Given the description of an element on the screen output the (x, y) to click on. 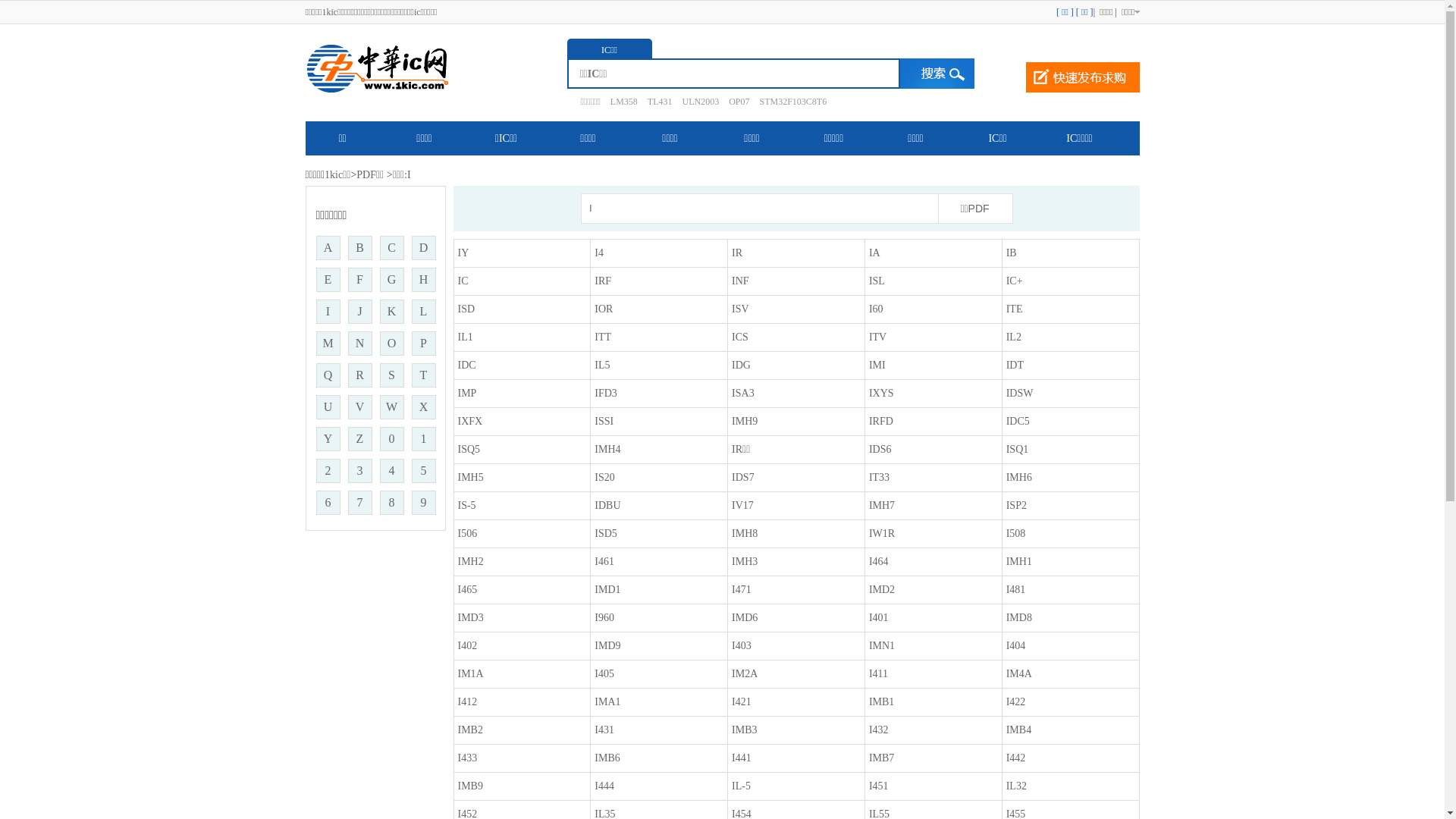
Y Element type: text (327, 438)
IMH5 Element type: text (470, 477)
IMH6 Element type: text (1019, 477)
I471 Element type: text (741, 589)
ISV Element type: text (740, 308)
I465 Element type: text (467, 589)
U Element type: text (327, 407)
2 Element type: text (327, 470)
IM4A Element type: text (1019, 673)
O Element type: text (391, 343)
G Element type: text (391, 279)
IY Element type: text (463, 252)
IMH1 Element type: text (1019, 561)
ISL Element type: text (876, 280)
IMB9 Element type: text (470, 785)
IMB3 Element type: text (743, 729)
9 Element type: text (423, 502)
IXFX Element type: text (470, 420)
IL2 Element type: text (1013, 336)
I441 Element type: text (741, 757)
I401 Element type: text (878, 617)
Q Element type: text (327, 375)
STM32F103C8T6 Element type: text (788, 101)
IMH3 Element type: text (744, 561)
IMP Element type: text (467, 392)
IDBU Element type: text (607, 505)
I405 Element type: text (604, 673)
IMI Element type: text (877, 364)
ULN2003 Element type: text (696, 101)
IM1A Element type: text (470, 673)
I421 Element type: text (741, 701)
I506 Element type: text (467, 533)
IMH8 Element type: text (744, 533)
TL431 Element type: text (656, 101)
ITE Element type: text (1014, 308)
IT33 Element type: text (879, 477)
IMB1 Element type: text (881, 701)
W Element type: text (391, 407)
IS-5 Element type: text (467, 505)
I404 Element type: text (1016, 645)
I433 Element type: text (467, 757)
IDT Element type: text (1014, 364)
IA Element type: text (874, 252)
P Element type: text (423, 343)
I442 Element type: text (1016, 757)
IDSW Element type: text (1019, 392)
IMD6 Element type: text (744, 617)
ISQ1 Element type: text (1017, 449)
IDS6 Element type: text (880, 449)
IXYS Element type: text (881, 392)
IDS7 Element type: text (742, 477)
IMD9 Element type: text (607, 645)
K Element type: text (391, 311)
IMD3 Element type: text (470, 617)
I411 Element type: text (878, 673)
IMB7 Element type: text (881, 757)
I422 Element type: text (1016, 701)
ICS Element type: text (739, 336)
ISD Element type: text (466, 308)
I402 Element type: text (467, 645)
IV17 Element type: text (742, 505)
0 Element type: text (391, 438)
X Element type: text (423, 407)
M Element type: text (327, 343)
ISP2 Element type: text (1016, 505)
IMH4 Element type: text (607, 449)
ISSI Element type: text (603, 420)
IMD1 Element type: text (607, 589)
E Element type: text (327, 279)
IOR Element type: text (603, 308)
1 Element type: text (423, 438)
I412 Element type: text (467, 701)
ITV Element type: text (877, 336)
I960 Element type: text (604, 617)
IMN1 Element type: text (881, 645)
IL-5 Element type: text (740, 785)
IL1 Element type: text (465, 336)
D Element type: text (423, 247)
IB Element type: text (1011, 252)
I403 Element type: text (741, 645)
IM2A Element type: text (744, 673)
R Element type: text (359, 375)
IS20 Element type: text (604, 477)
4 Element type: text (391, 470)
IMB2 Element type: text (470, 729)
I4 Element type: text (598, 252)
ISA3 Element type: text (742, 392)
IMH9 Element type: text (744, 420)
B Element type: text (359, 247)
I60 Element type: text (876, 308)
IMH7 Element type: text (881, 505)
IW1R Element type: text (881, 533)
Z Element type: text (359, 438)
F Element type: text (359, 279)
IC Element type: text (463, 280)
L Element type: text (423, 311)
I451 Element type: text (878, 785)
7 Element type: text (359, 502)
IMA1 Element type: text (607, 701)
IMB4 Element type: text (1018, 729)
LM358 Element type: text (619, 101)
IL5 Element type: text (601, 364)
I508 Element type: text (1016, 533)
I431 Element type: text (604, 729)
ISQ5 Element type: text (469, 449)
IC+ Element type: text (1014, 280)
V Element type: text (359, 407)
IMD2 Element type: text (881, 589)
INF Element type: text (740, 280)
IMD8 Element type: text (1019, 617)
I Element type: text (327, 311)
IL32 Element type: text (1016, 785)
IFD3 Element type: text (605, 392)
IR Element type: text (736, 252)
IRFD Element type: text (881, 420)
I444 Element type: text (604, 785)
3 Element type: text (359, 470)
IMH2 Element type: text (470, 561)
ITT Element type: text (602, 336)
N Element type: text (359, 343)
8 Element type: text (391, 502)
S Element type: text (391, 375)
I461 Element type: text (604, 561)
IDC Element type: text (467, 364)
6 Element type: text (327, 502)
IMB6 Element type: text (606, 757)
IDC5 Element type: text (1017, 420)
I464 Element type: text (878, 561)
H Element type: text (423, 279)
IRF Element type: text (602, 280)
I432 Element type: text (878, 729)
C Element type: text (391, 247)
J Element type: text (359, 311)
T Element type: text (423, 375)
OP07 Element type: text (735, 101)
IDG Element type: text (740, 364)
I481 Element type: text (1016, 589)
5 Element type: text (423, 470)
A Element type: text (327, 247)
ISD5 Element type: text (605, 533)
